Given the description of an element on the screen output the (x, y) to click on. 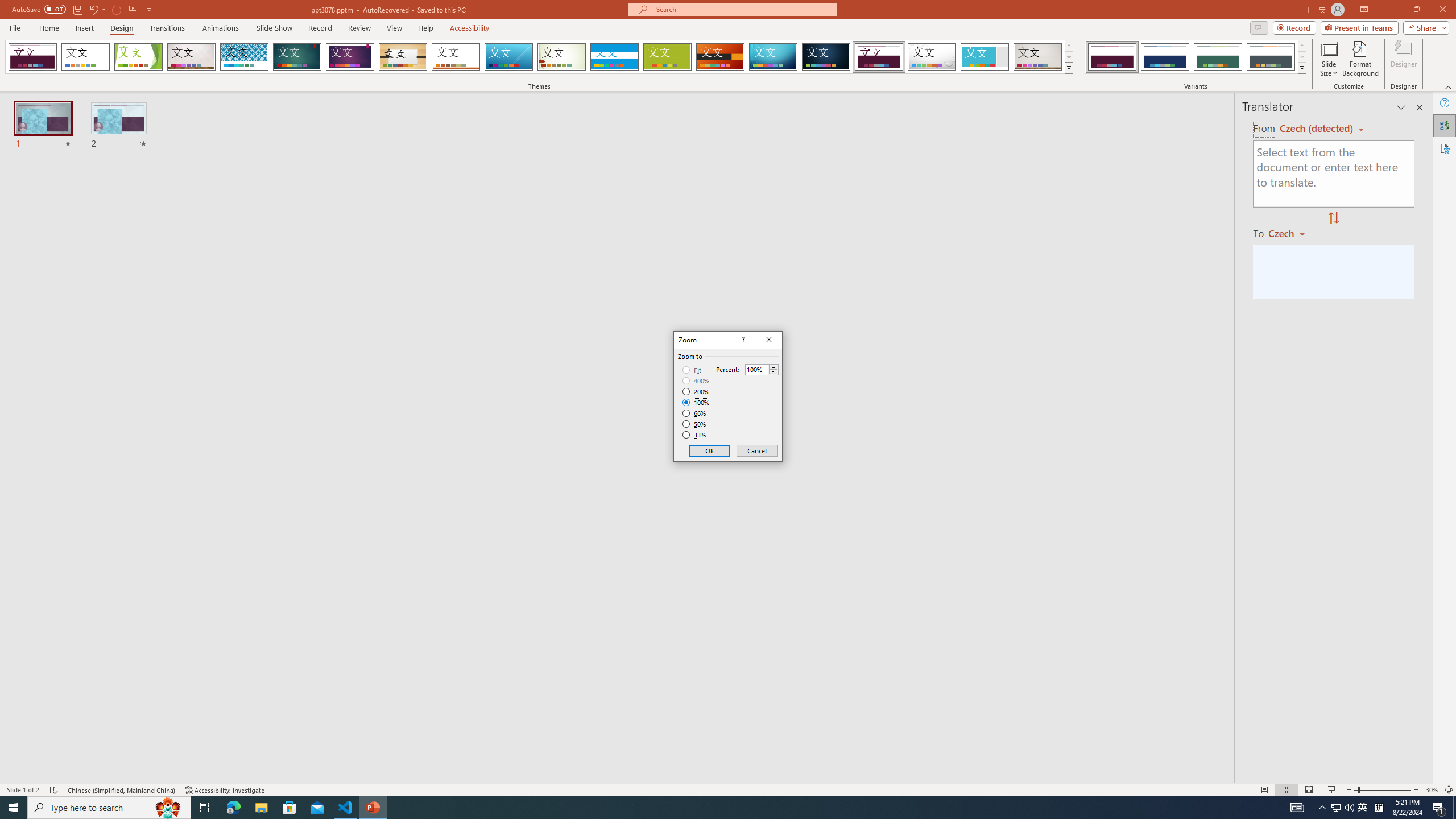
Quick Access Toolbar (82, 9)
Slide Sorter (1286, 790)
Row Down (1301, 56)
More Options (103, 9)
Czech (1291, 232)
Themes (1068, 67)
Czech (detected) (1317, 128)
Microsoft Store (289, 807)
200% (696, 391)
Customize Quick Access Toolbar (149, 9)
File Explorer (261, 807)
Berlin (720, 56)
Context help (742, 339)
Undo (92, 9)
Close pane (1419, 107)
